Given the description of an element on the screen output the (x, y) to click on. 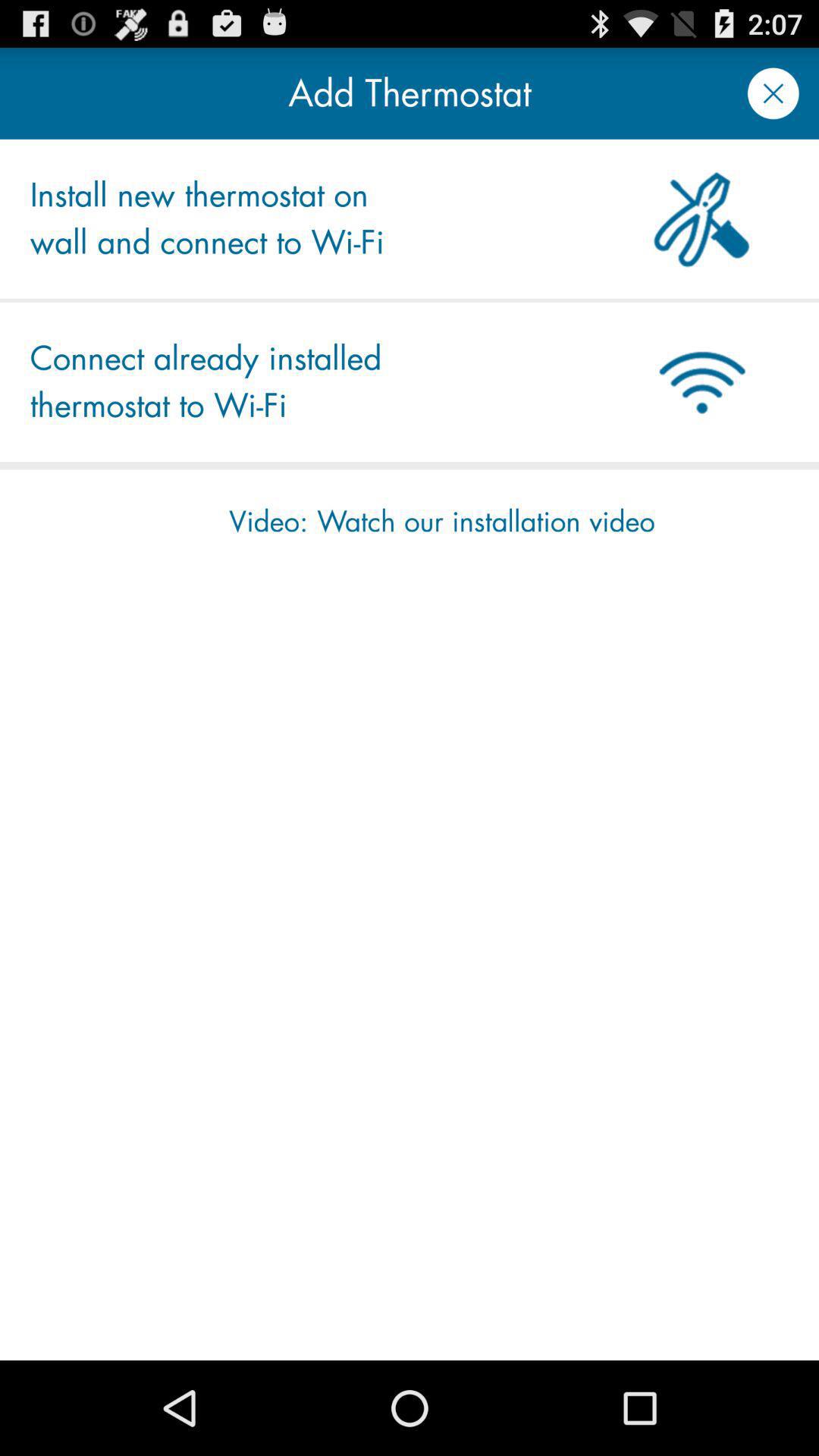
cancel out app (773, 93)
